Given the description of an element on the screen output the (x, y) to click on. 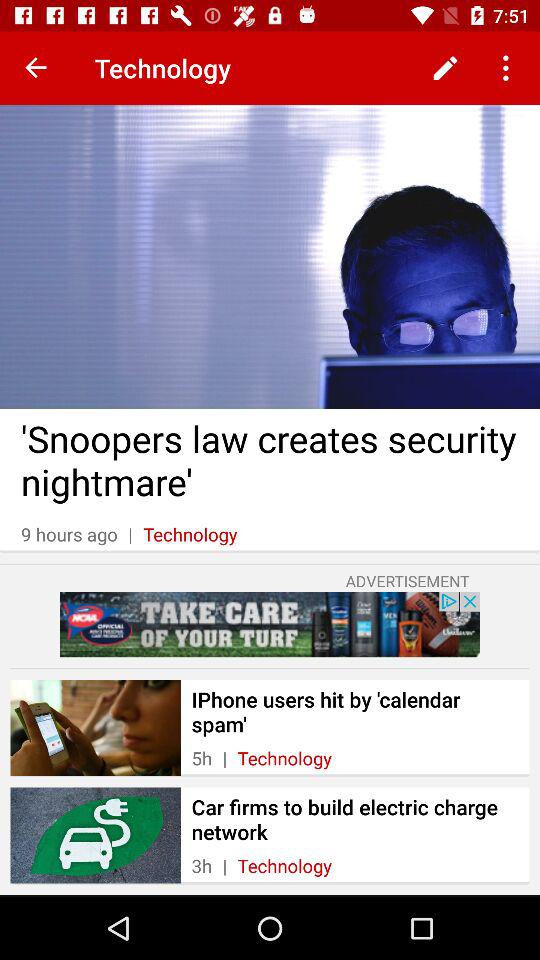
oepn the advertisement (270, 624)
